Given the description of an element on the screen output the (x, y) to click on. 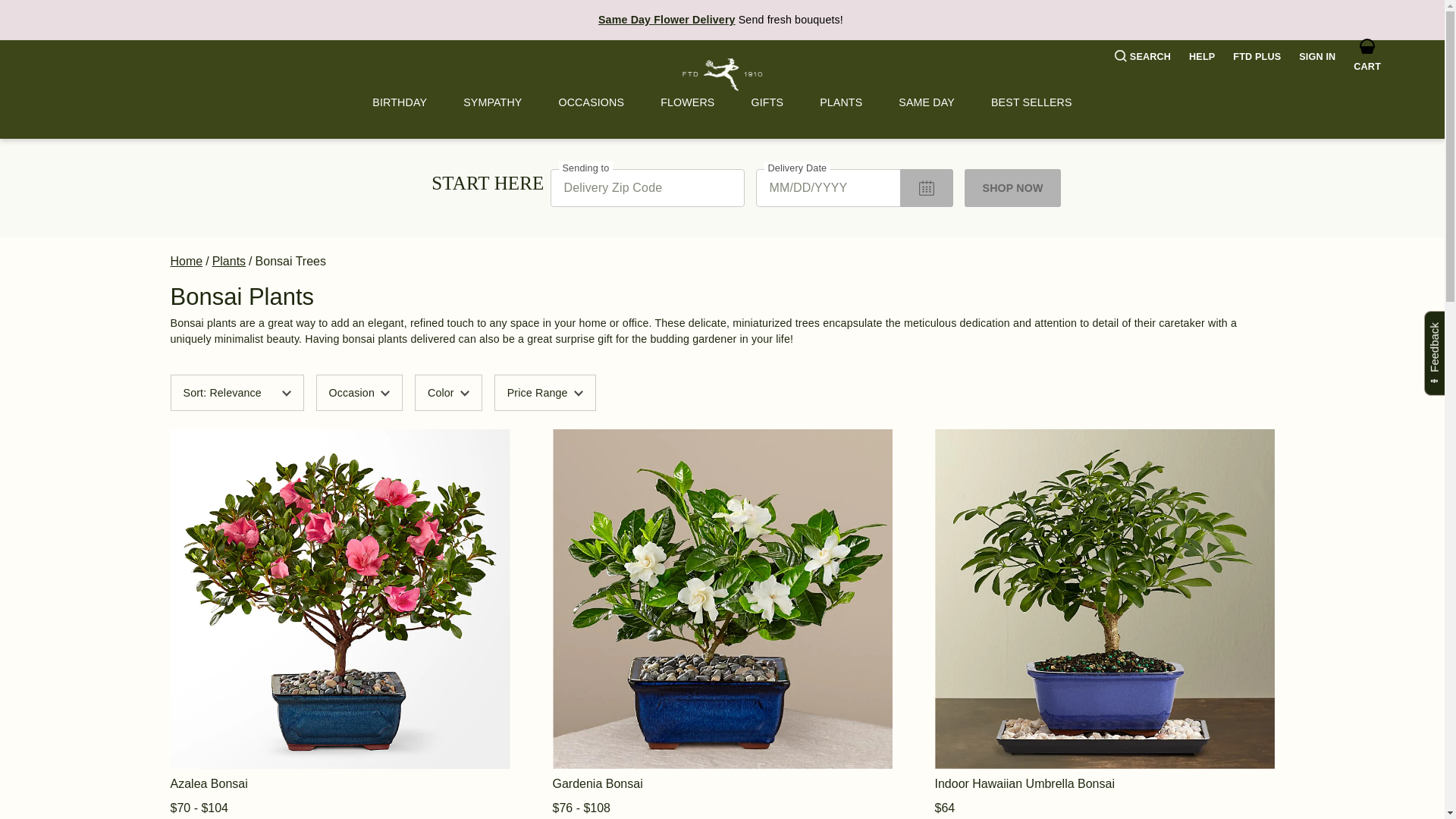
BIRTHDAY (399, 102)
SYMPATHY (492, 102)
HELP (1201, 56)
FTD PLUS (1257, 56)
Same Day Flower Delivery (666, 19)
SIGN IN (1316, 56)
SEARCH (1142, 56)
